Given the description of an element on the screen output the (x, y) to click on. 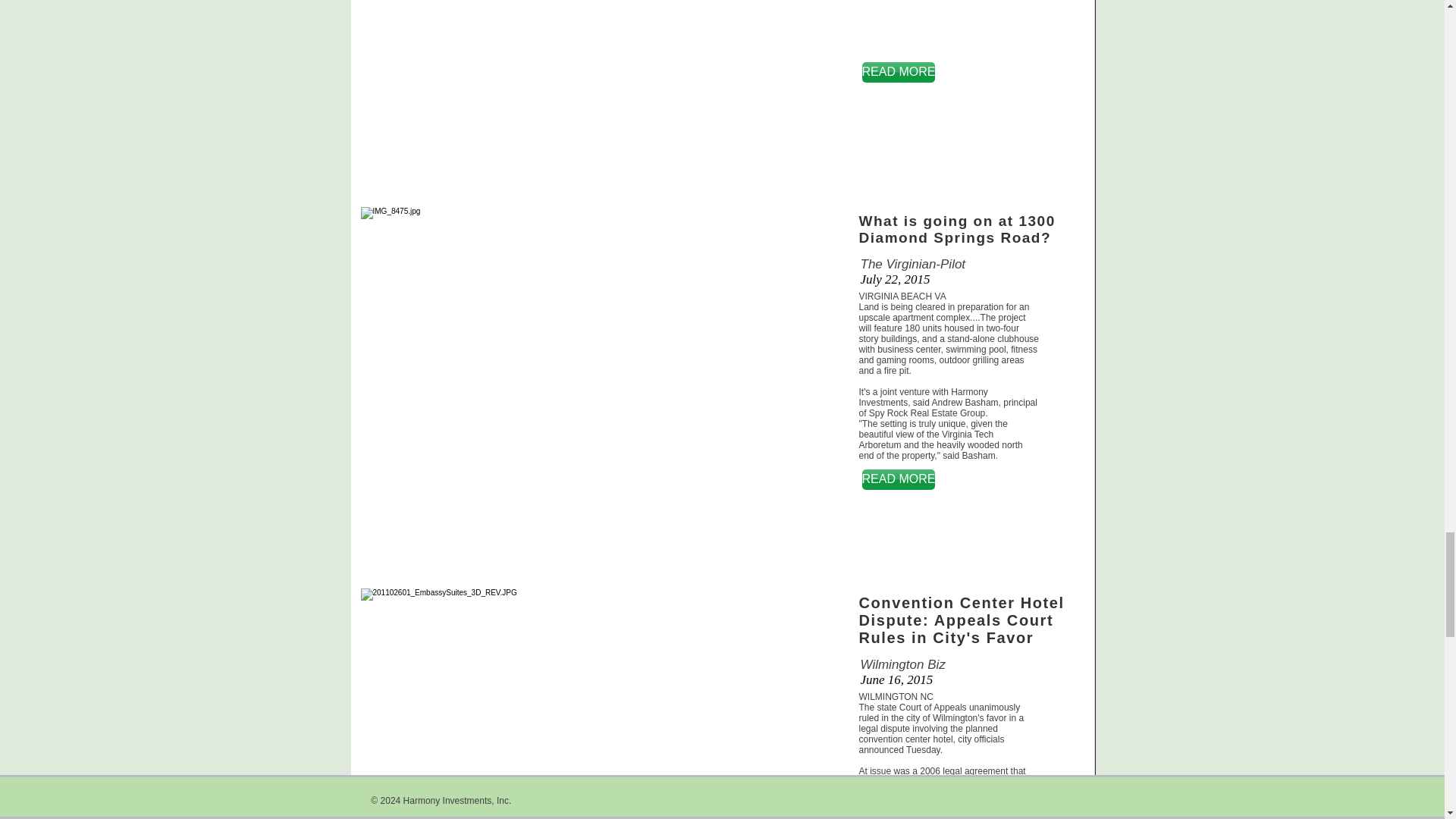
READ MORE (897, 479)
READ MORE (897, 72)
Virginia Tech Arboretum (925, 439)
Spy Rock Real Estate Group (927, 412)
